Given the description of an element on the screen output the (x, y) to click on. 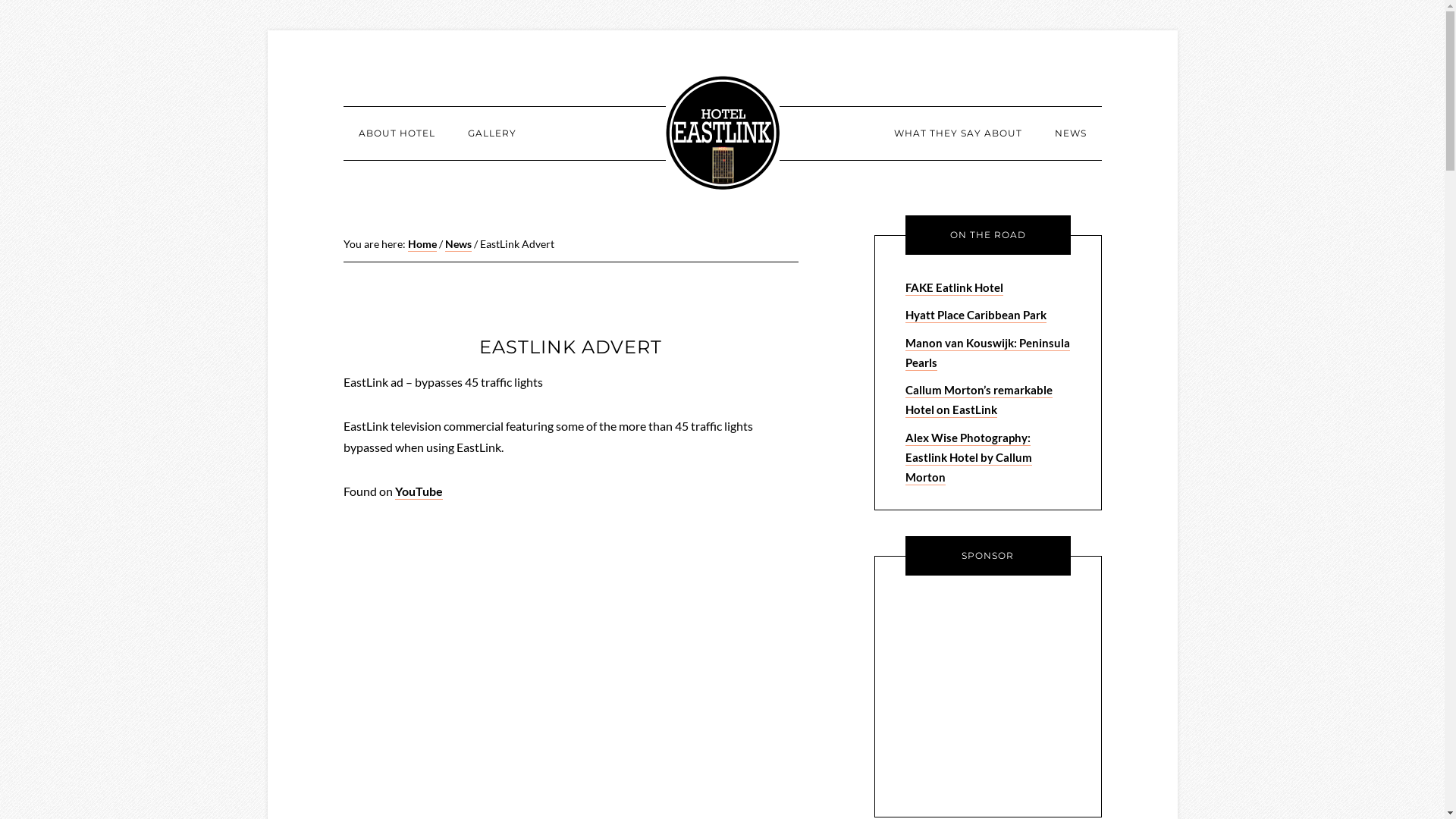
WHAT THEY SAY ABOUT Element type: text (957, 133)
FAKE Eatlink Hotel Element type: text (954, 287)
YouTube Element type: text (418, 491)
HOTEL EASTLINK Element type: text (722, 132)
Alex Wise Photography: Eastlink Hotel by Callum Morton Element type: text (968, 458)
Advertisement Element type: hover (1000, 692)
Hyatt Place Caribbean Park Element type: text (975, 315)
News Element type: text (457, 244)
NEWS Element type: text (1069, 133)
ABOUT HOTEL Element type: text (395, 133)
Home Element type: text (421, 244)
Manon van Kouswijk: Peninsula Pearls Element type: text (987, 352)
GALLERY Element type: text (490, 133)
